Given the description of an element on the screen output the (x, y) to click on. 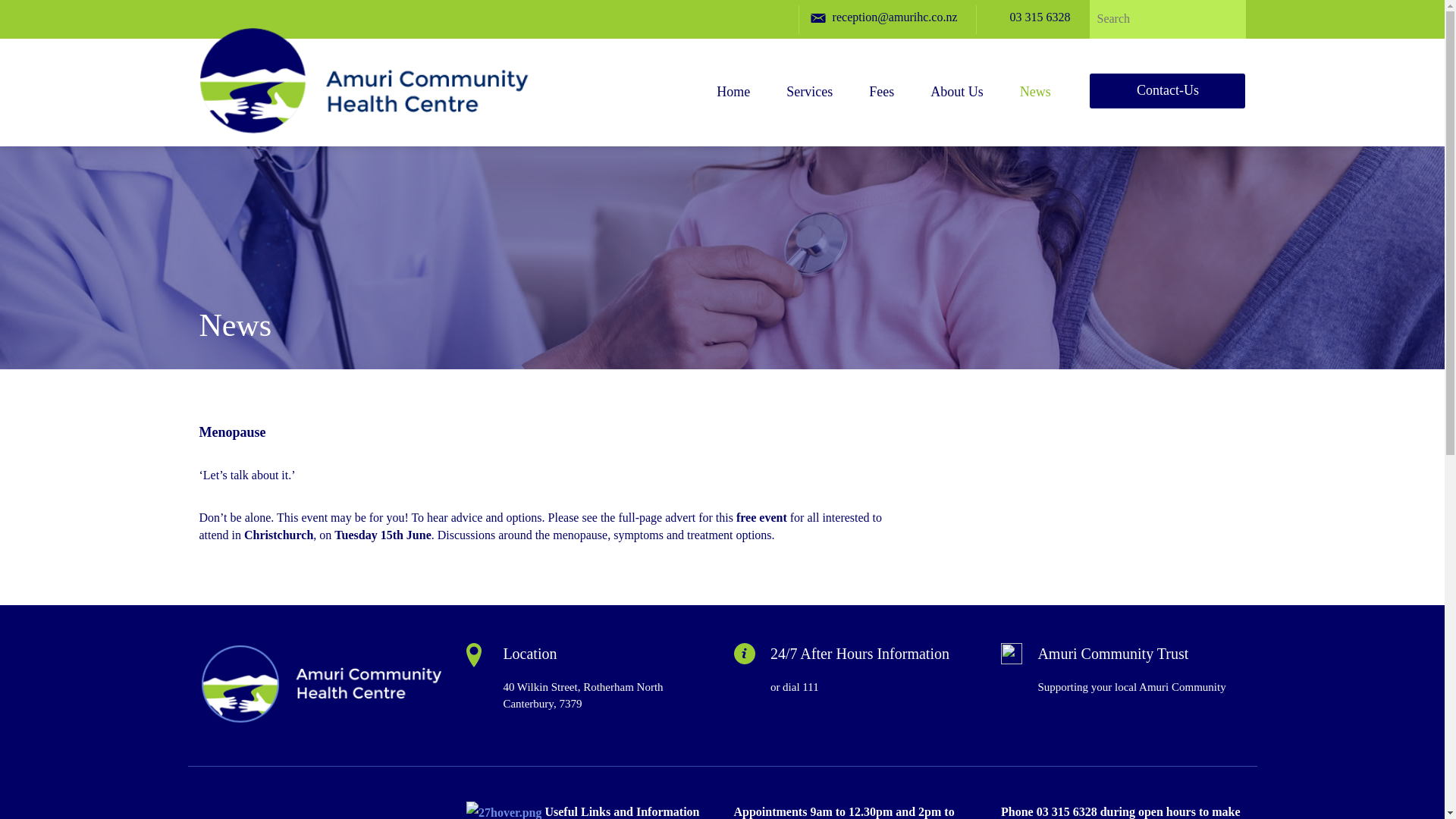
Services (809, 109)
About Us (956, 109)
News (1034, 109)
03 315 6328 (1040, 16)
Contact Us (859, 653)
Home (733, 109)
